Given the description of an element on the screen output the (x, y) to click on. 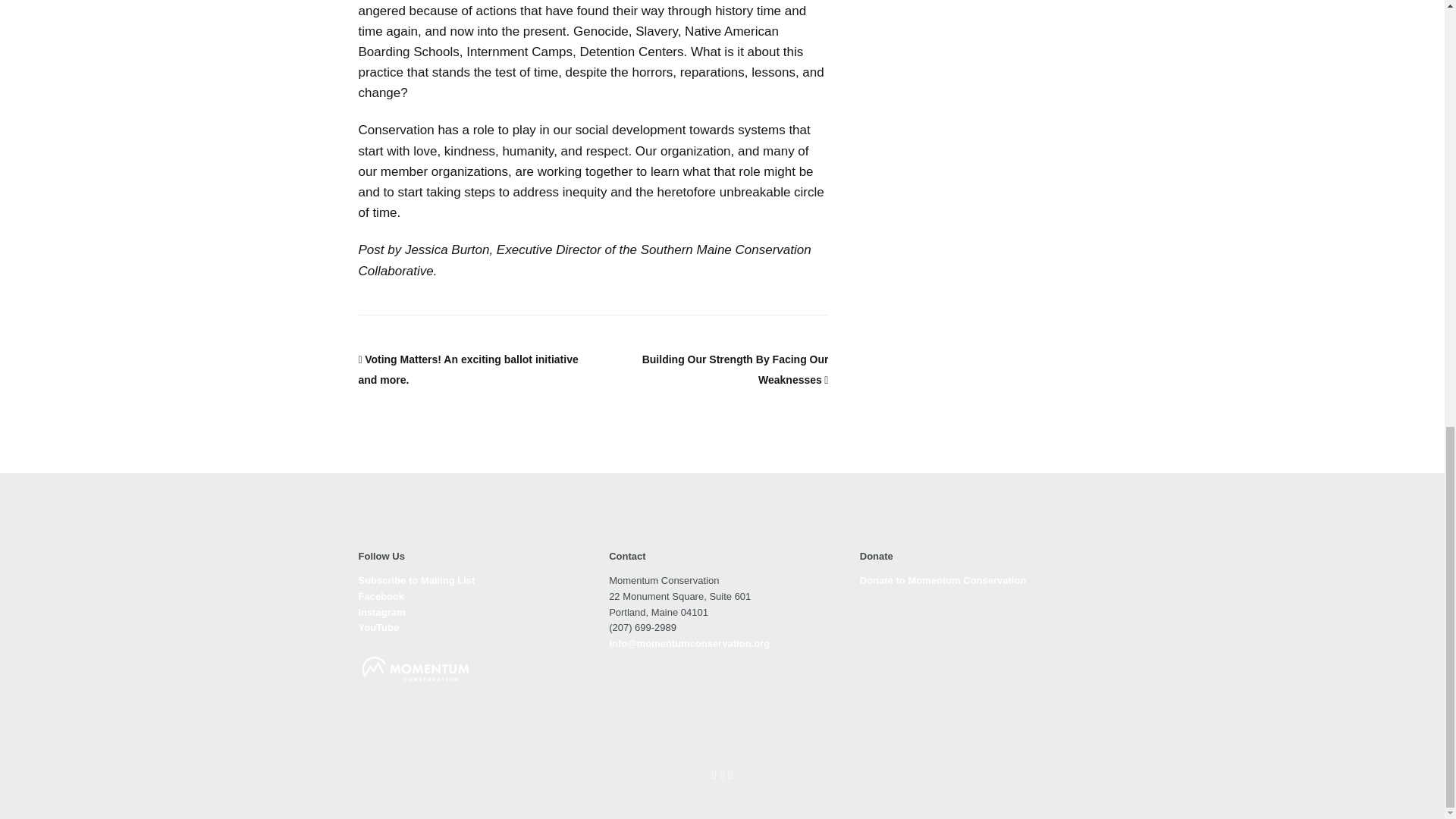
Voting Matters! An exciting ballot initiative and more. (468, 368)
Building Our Strength By Facing Our Weaknesses (735, 368)
